Given the description of an element on the screen output the (x, y) to click on. 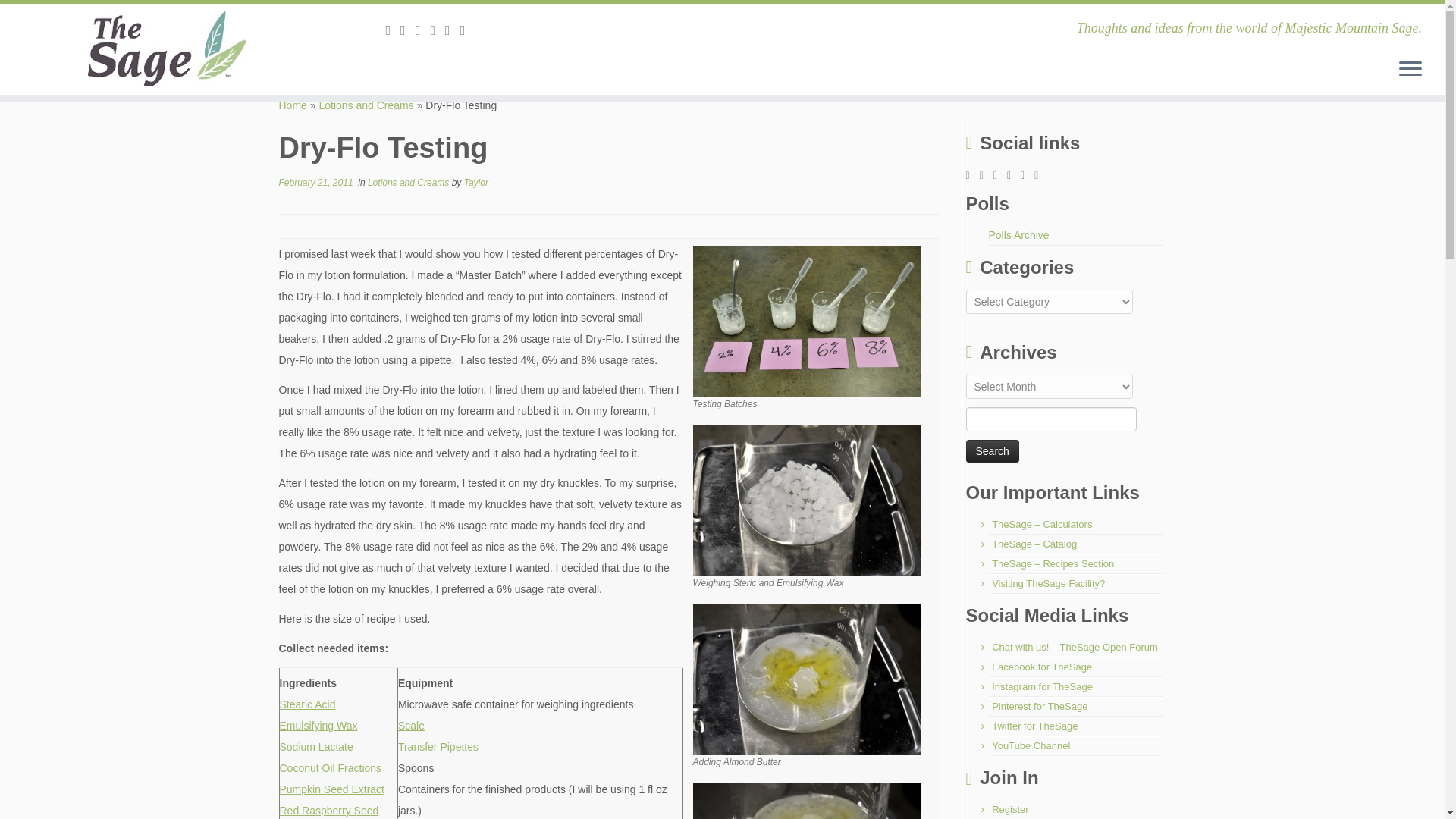
E-mail (407, 29)
View all posts by Taylor (475, 182)
Stearic Acid (306, 704)
Taylor (475, 182)
Sodium Lactate (315, 746)
Lotions and Creams (365, 105)
Subscribe to my rss feed (392, 29)
Follow me on Facebook (437, 29)
Transfer Pipettes (438, 746)
Adventures With The Sage (293, 105)
8:41 am (316, 182)
Search (992, 450)
Emulsifying Wax (317, 725)
Open the menu (1410, 69)
View all posts in Lotions and Creams (409, 182)
